Given the description of an element on the screen output the (x, y) to click on. 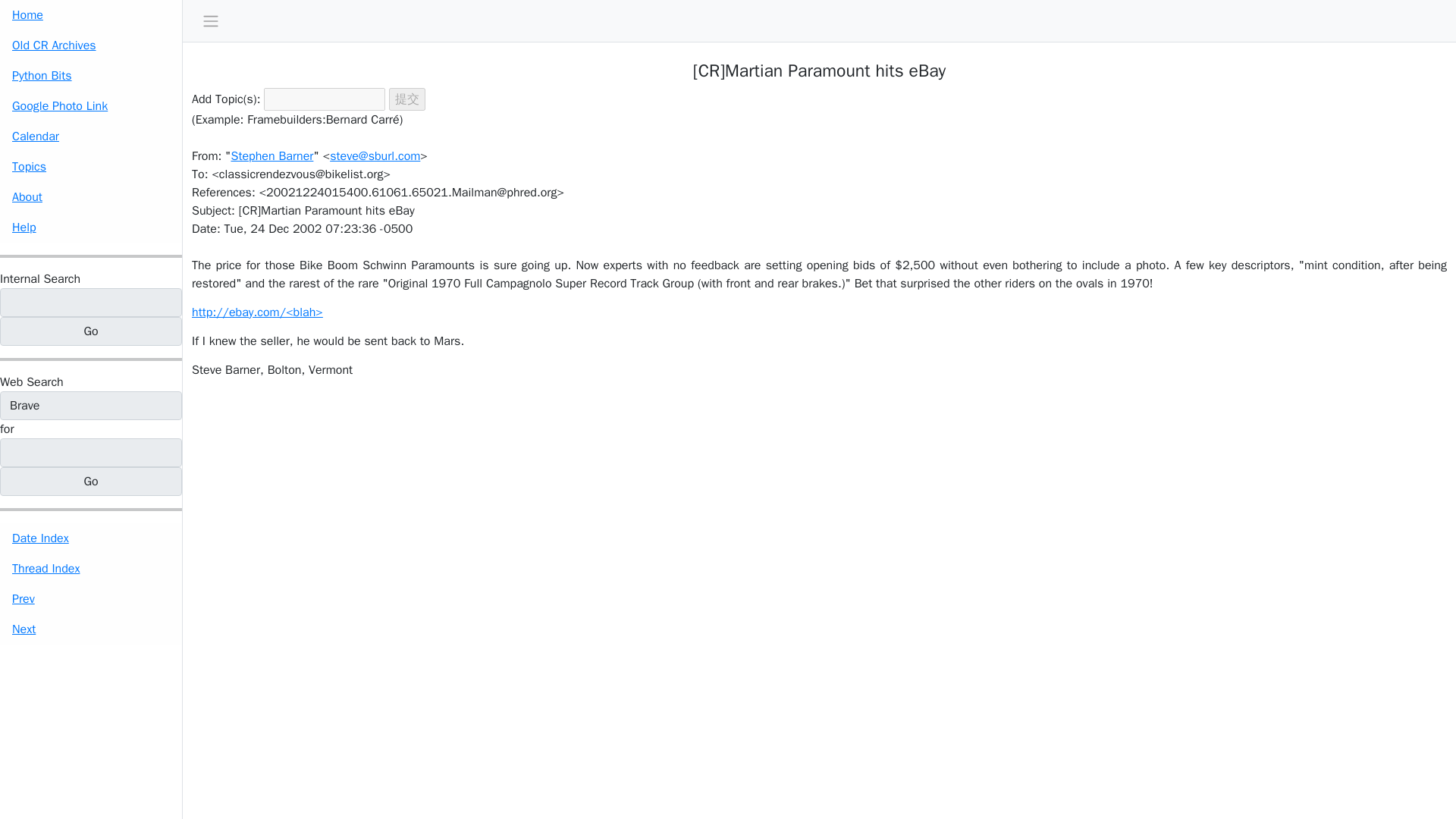
Topics (91, 166)
Select your preferred search engine and enter a search term. (32, 382)
Date Index (91, 538)
Google Photo Link (91, 105)
Go (91, 481)
Home (91, 15)
Calendar (91, 136)
Old CR Archives (91, 45)
Go (91, 330)
Thread Index (91, 568)
About (91, 196)
Prev (91, 598)
Next (91, 629)
Python Bits (91, 75)
Go (91, 330)
